Given the description of an element on the screen output the (x, y) to click on. 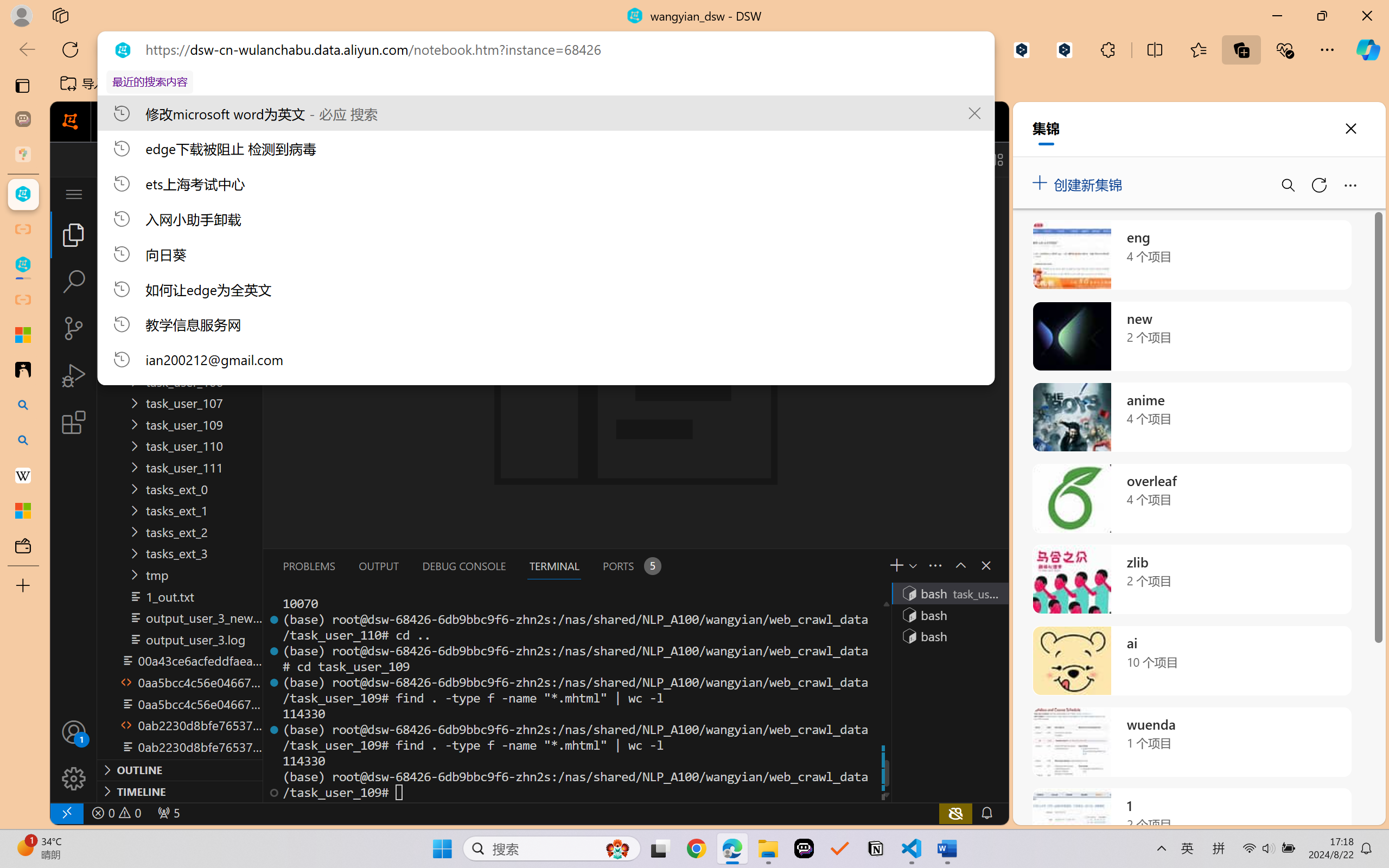
Terminal (568, 121)
Search (Ctrl+Shift+F) (73, 281)
Notebook (353, 121)
Output (Ctrl+Shift+U) (377, 565)
Class: menubar compact overflow-menu-only inactive (73, 194)
copilot-notconnected, Copilot error (click for details) (955, 812)
Class: next-menu next-hoz widgets--iconMenu--BFkiHRM (930, 121)
Class: xterm-decoration-overview-ruler (885, 697)
Explorer Section: workspace (179, 221)
